Given the description of an element on the screen output the (x, y) to click on. 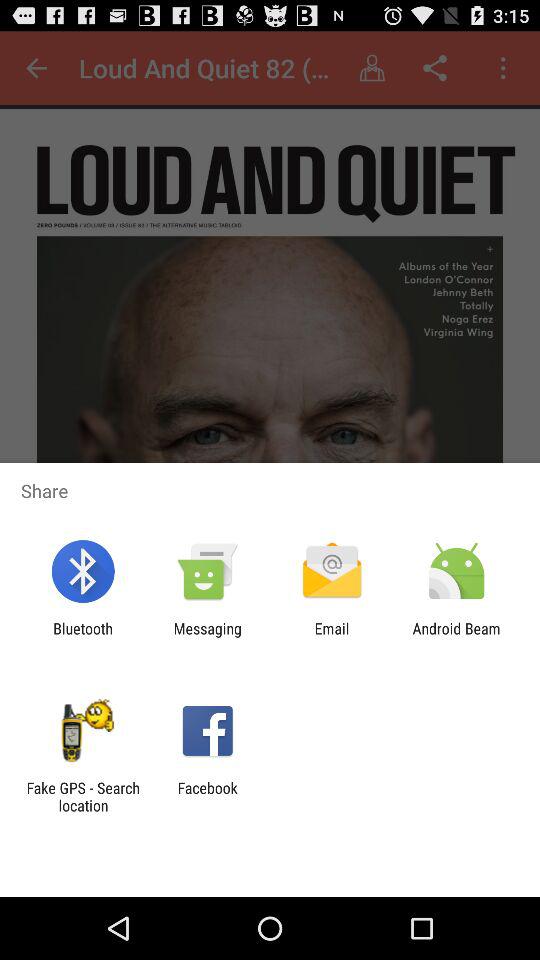
turn off the app next to the bluetooth icon (207, 637)
